Given the description of an element on the screen output the (x, y) to click on. 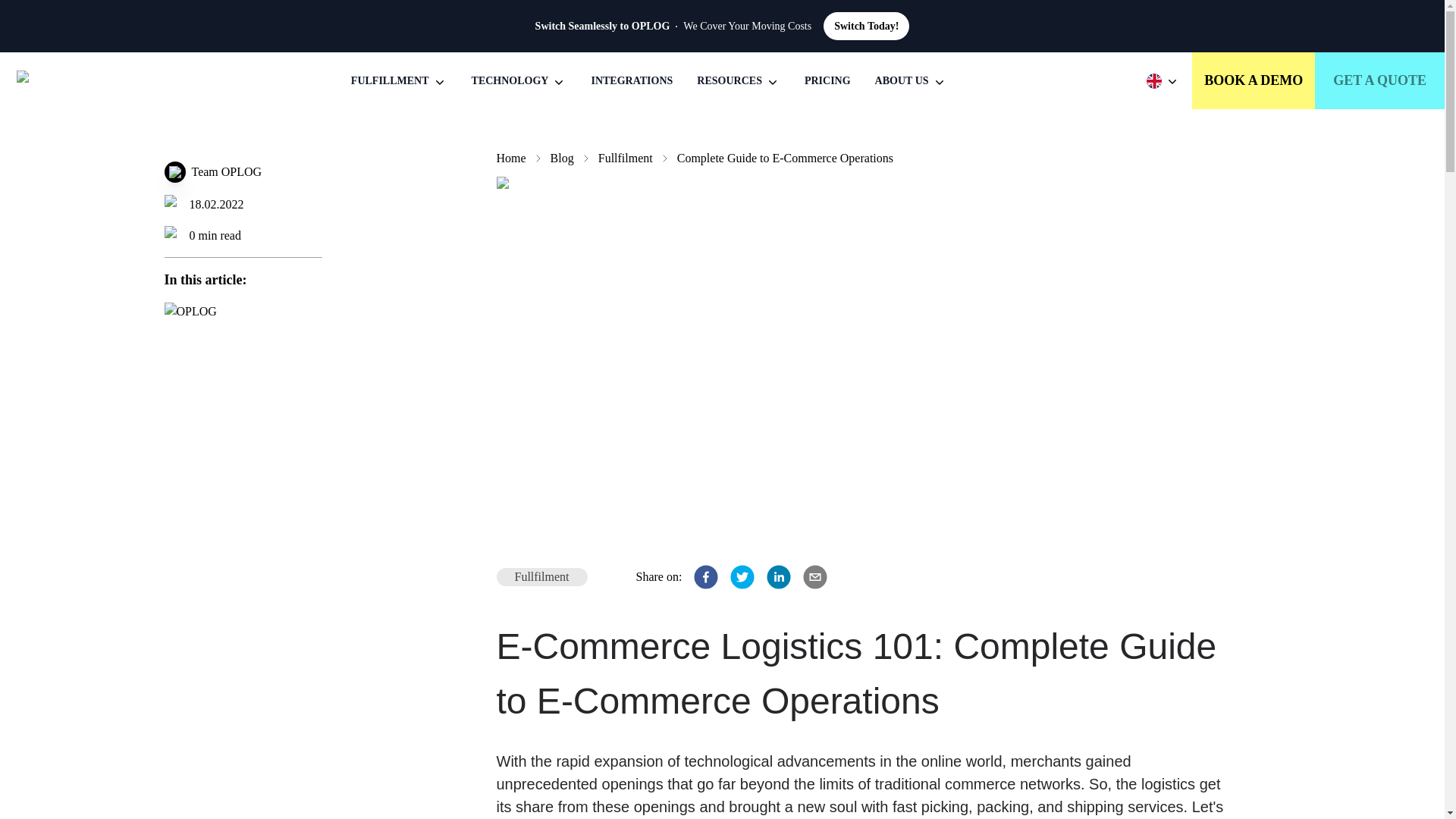
RESOURCES (738, 80)
Complete Guide to E-Commerce Operations (785, 158)
ABOUT US (911, 80)
OPLOG (74, 80)
Fullfilment (541, 577)
Fullfilment (625, 158)
Blog (561, 158)
FULFILLMENT (398, 80)
Switch Today! (866, 26)
PRICING (827, 79)
BOOK A DEMO (1253, 80)
Home (510, 158)
INTEGRATIONS (631, 79)
TECHNOLOGY (519, 80)
